Given the description of an element on the screen output the (x, y) to click on. 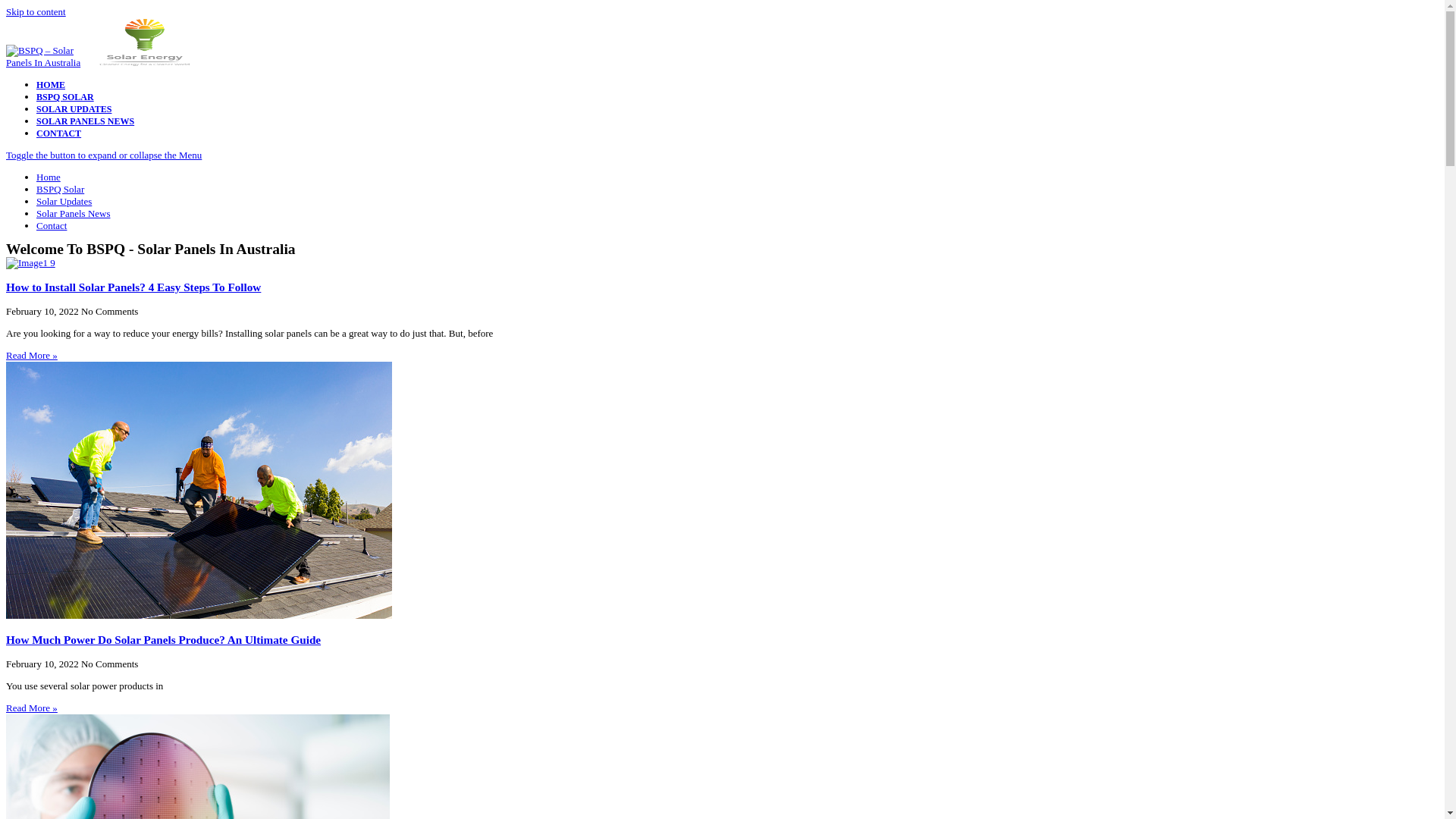
SOLAR UPDATES Element type: text (73, 108)
Skip to content Element type: text (35, 11)
Home 35 Element type: hover (199, 489)
Toggle the button to expand or collapse the Menu Element type: text (722, 155)
BSPQ Solar Element type: text (60, 188)
Home Element type: text (48, 176)
SOLAR PANELS NEWS Element type: text (85, 121)
How Much Power Do Solar Panels Produce? An Ultimate Guide Element type: text (163, 639)
HOME Element type: text (50, 84)
Solar Panels News Element type: text (73, 213)
How to Install Solar Panels? 4 Easy Steps To Follow Element type: text (133, 286)
CONTACT Element type: text (58, 133)
Solar Updates Element type: text (63, 201)
BSPQ SOLAR Element type: text (65, 96)
Contact Element type: text (51, 225)
Home 34 Element type: hover (30, 262)
